Given the description of an element on the screen output the (x, y) to click on. 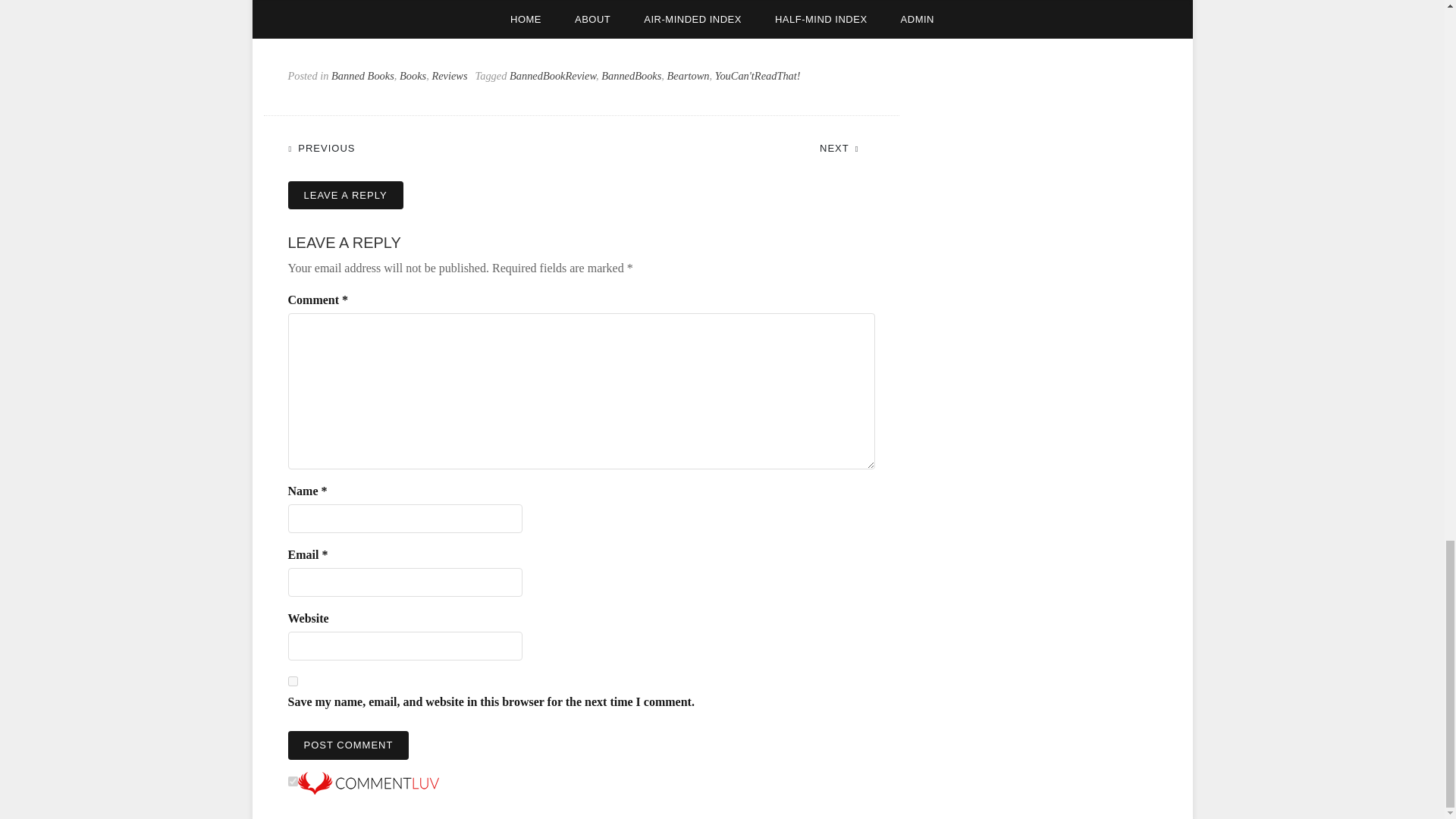
Post Comment (348, 745)
Books (412, 75)
NEXT (846, 146)
BannedBookReview (552, 75)
LEAVE A REPLY (345, 194)
Beartown (688, 75)
yes (293, 681)
Reviews (448, 75)
YouCan'tReadThat! (757, 75)
Banned Books (362, 75)
Post Comment (348, 745)
on (293, 781)
PREVIOUS (329, 146)
BannedBooks (631, 75)
